Given the description of an element on the screen output the (x, y) to click on. 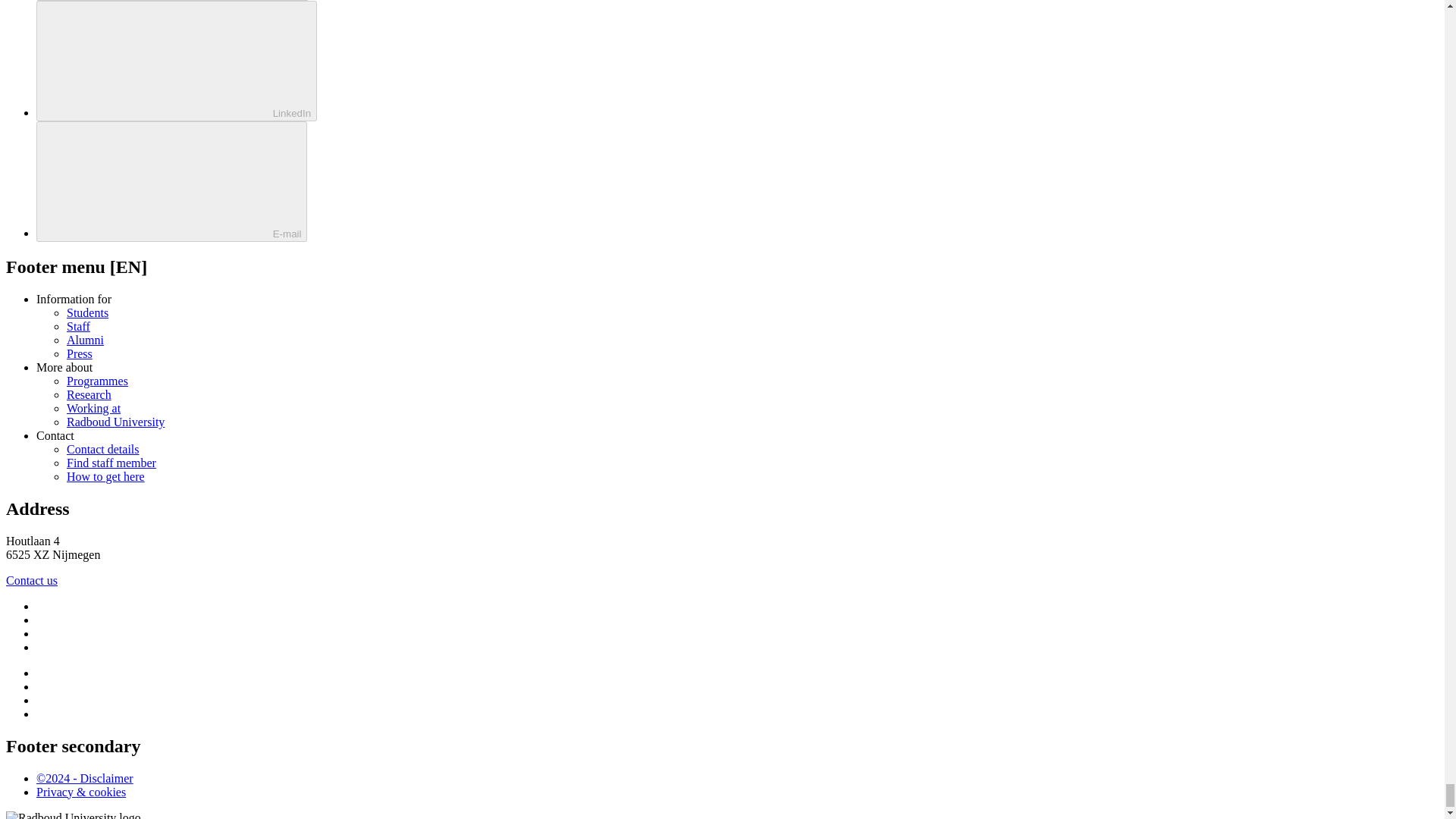
Information about our campus and how to get here (105, 476)
